Given the description of an element on the screen output the (x, y) to click on. 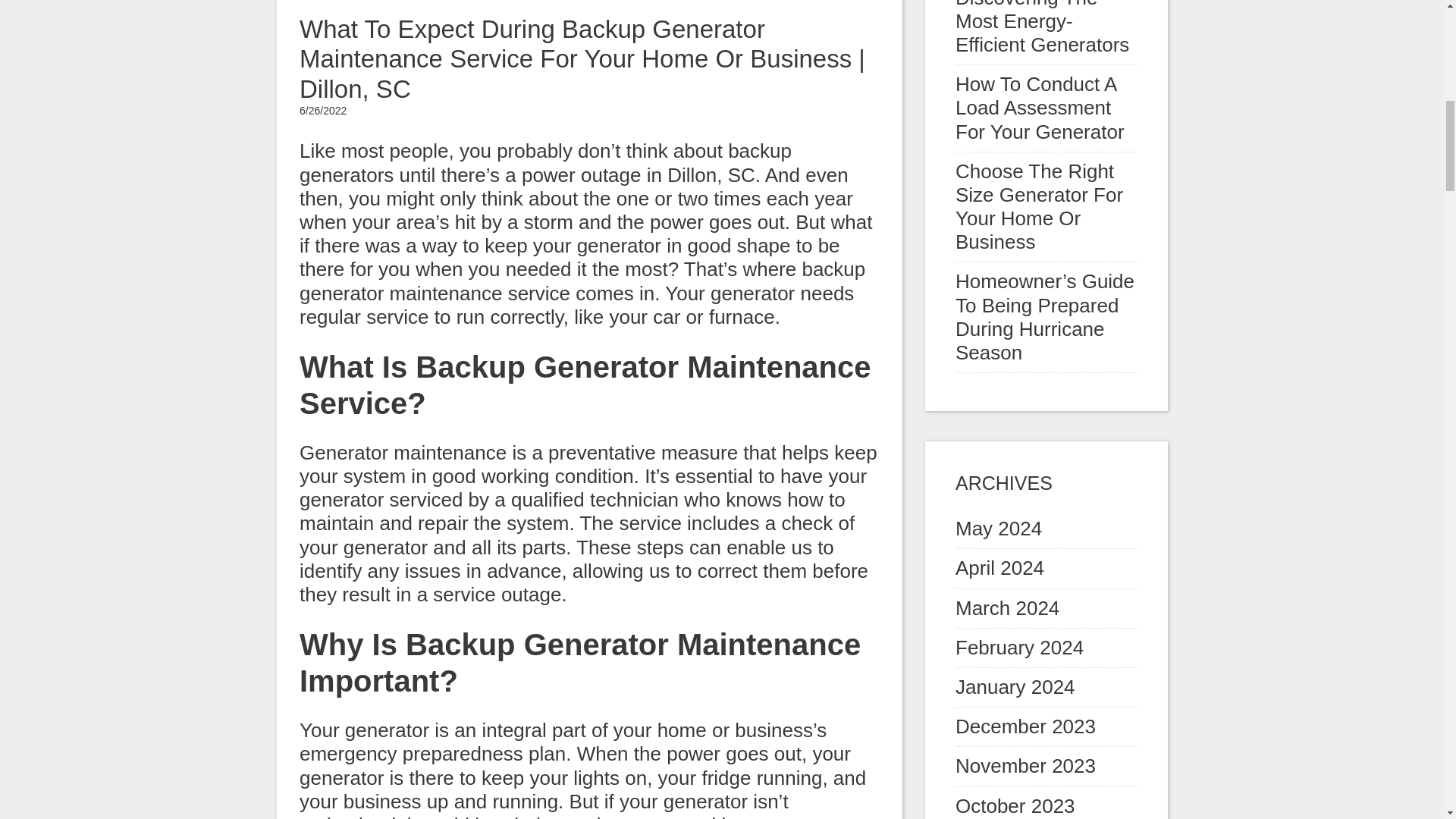
backup generator maintenance service (581, 280)
Choose The Right Size Generator For Your Home Or Business (1038, 206)
power outage (581, 174)
How To Conduct A Load Assessment For Your Generator (1039, 107)
